Given the description of an element on the screen output the (x, y) to click on. 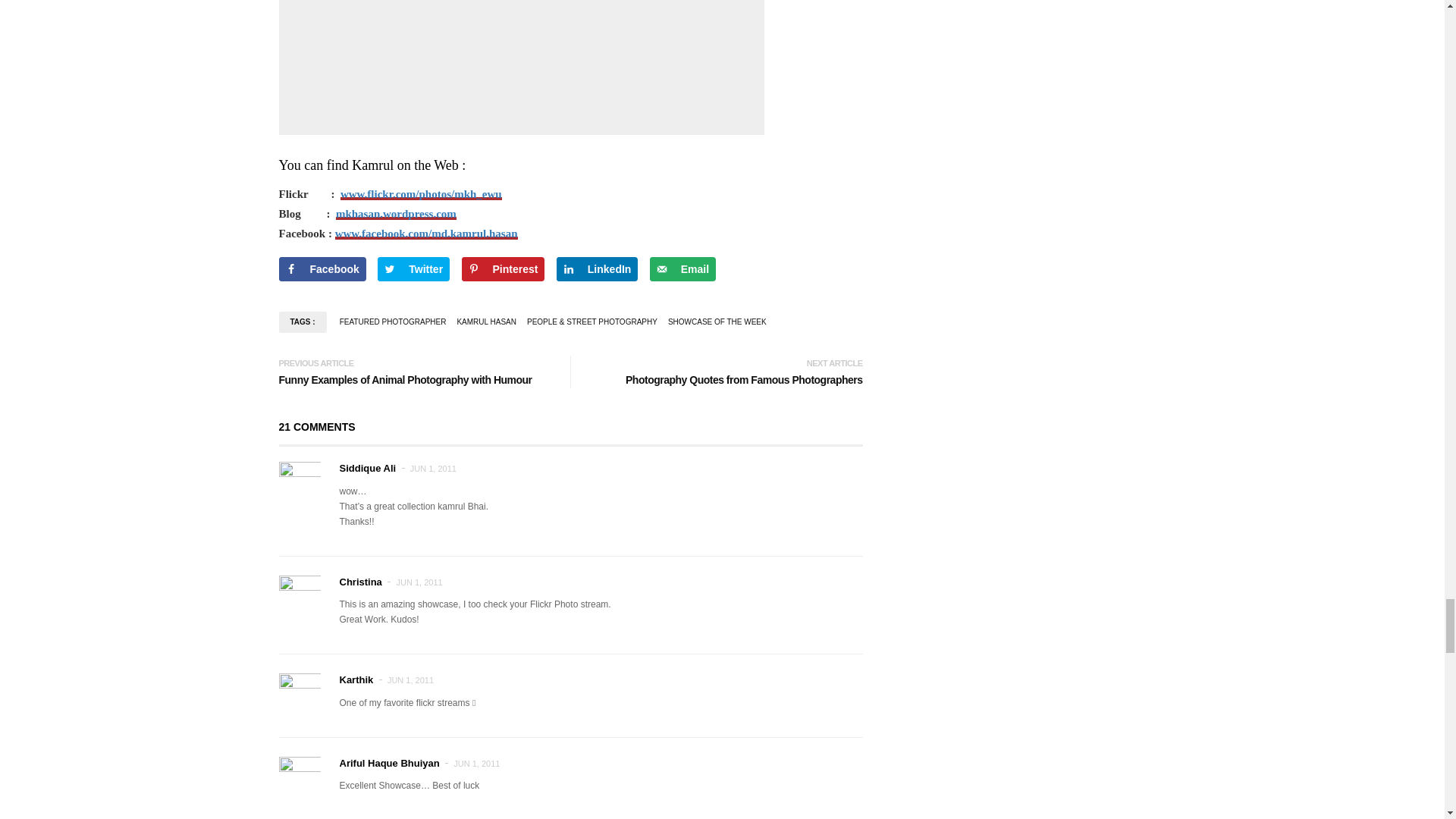
Save to Pinterest (502, 269)
Share on LinkedIn (597, 269)
Share on Twitter (413, 269)
Share on Facebook (322, 269)
Send over email (682, 269)
